Given the description of an element on the screen output the (x, y) to click on. 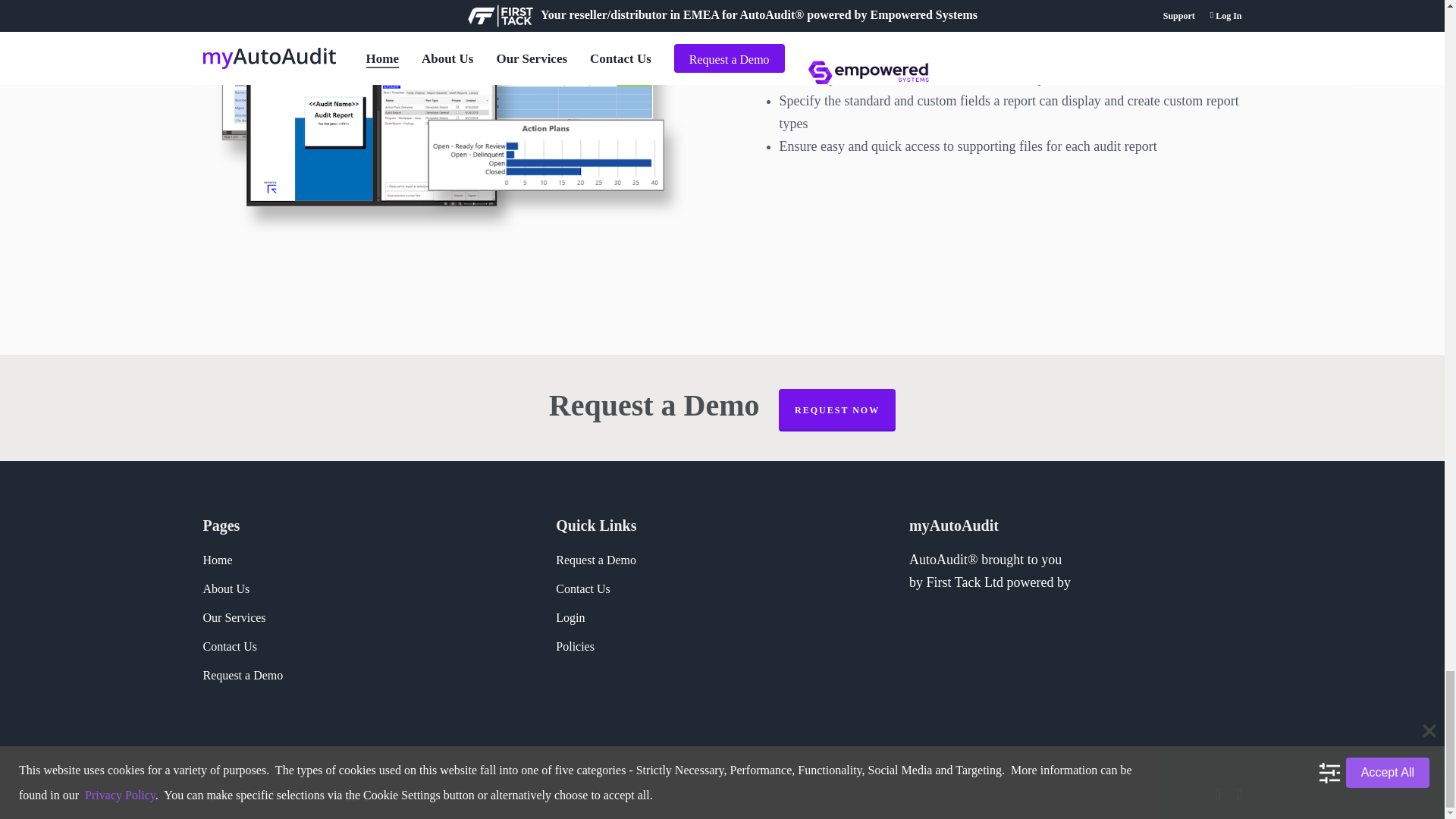
Request a Demo (243, 675)
Contact Us (230, 645)
Contact Us (583, 588)
Login (570, 617)
REQUEST NOW (836, 410)
Policies (575, 645)
About Us (226, 588)
Our Services (234, 617)
Home (217, 559)
Request a Demo (596, 559)
